Given the description of an element on the screen output the (x, y) to click on. 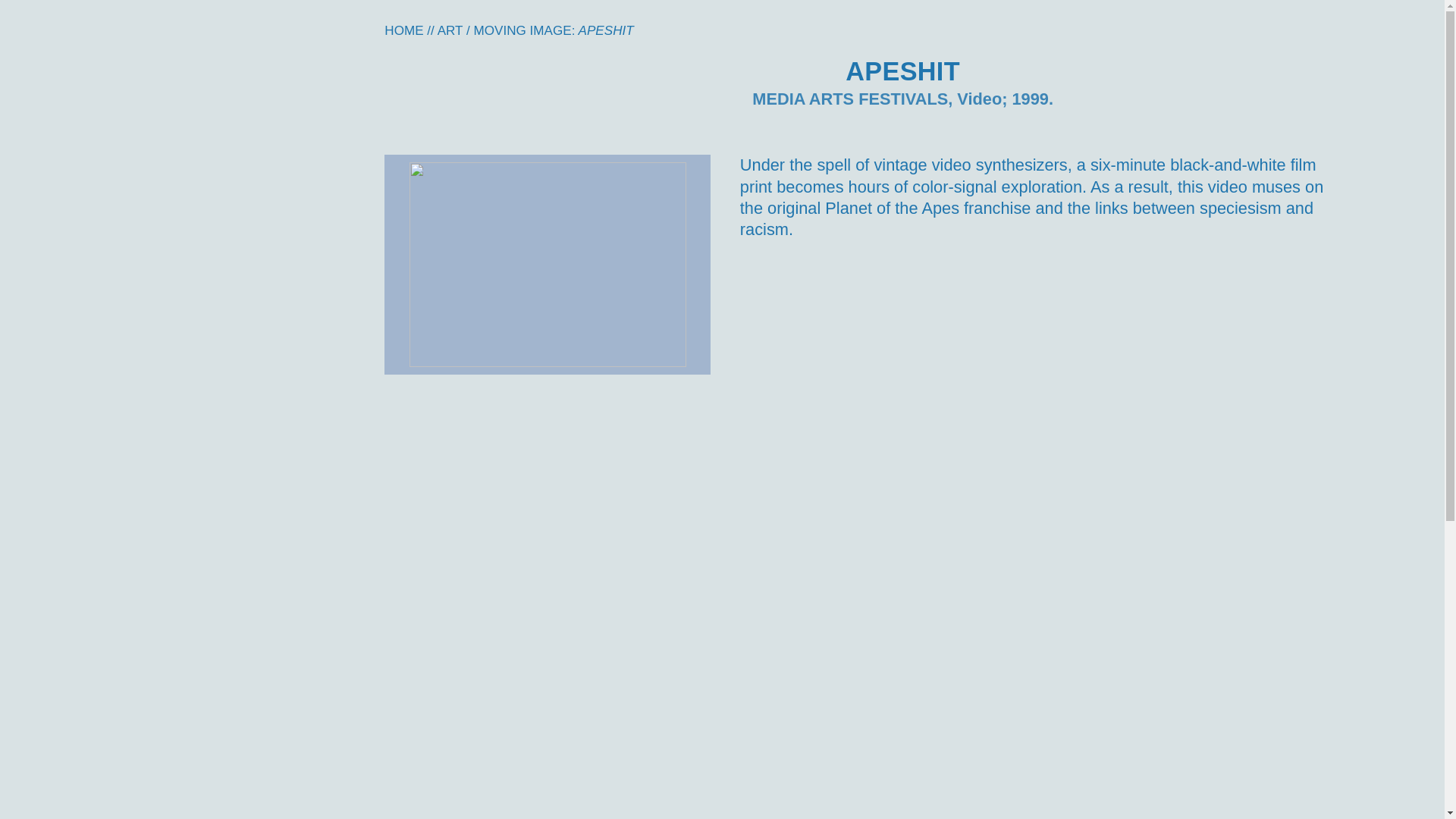
HOME (403, 30)
ART (450, 30)
: A (579, 30)
